Given the description of an element on the screen output the (x, y) to click on. 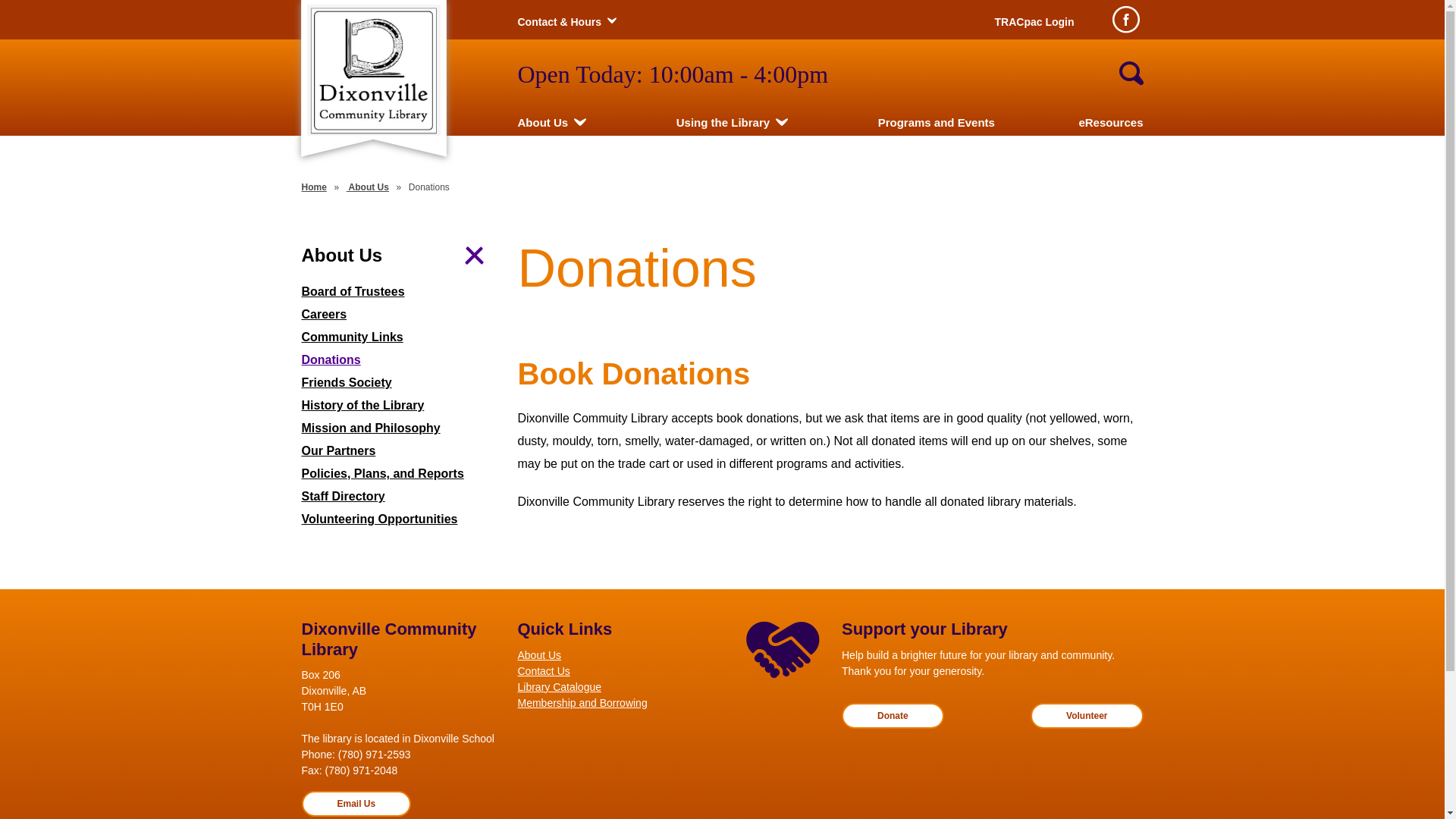
About Us
Toggle navigation Element type: text (398, 255)
Dixonville Community Library Element type: hover (372, 69)
Policies, Plans, and Reports Element type: text (398, 473)
eResources Element type: text (1110, 122)
Library Catalogue Element type: text (613, 687)
About Us Element type: text (542, 122)
Our Partners Element type: text (398, 450)
Membership and Borrowing Element type: text (613, 703)
Donations Element type: text (398, 359)
Using the Library Element type: text (722, 122)
Home Element type: text (313, 187)
Programs and Events Element type: text (936, 122)
Community Links Element type: text (398, 337)
Volunteering Opportunities Element type: text (398, 519)
Volunteer Element type: text (1086, 715)
Email Us Element type: text (356, 803)
Careers Element type: text (398, 314)
Board of Trustees Element type: text (398, 291)
Friends Society Element type: text (398, 382)
About Us Element type: text (367, 187)
About Us Element type: text (613, 655)
Donate Element type: text (892, 715)
Mission and Philosophy Element type: text (398, 428)
Facebook Element type: hover (1125, 19)
Staff Directory Element type: text (398, 496)
History of the Library Element type: text (398, 405)
TRACpac Login Element type: text (1034, 21)
Contact Us Element type: text (613, 671)
Contact & Hours Element type: text (558, 21)
